Given the description of an element on the screen output the (x, y) to click on. 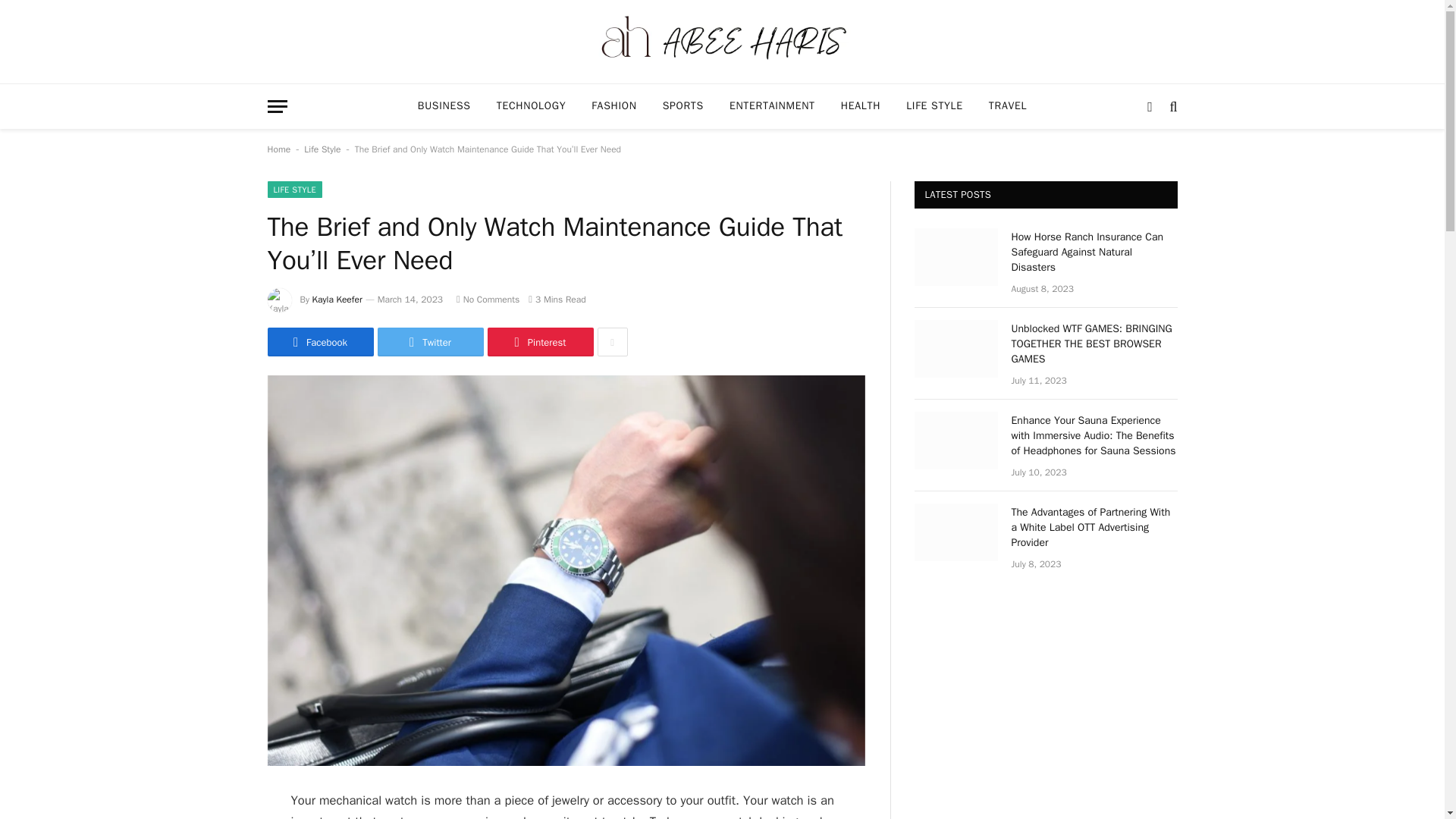
Twitter (430, 341)
Kayla Keefer (337, 299)
Share on Pinterest (539, 341)
LIFE STYLE (934, 106)
Share on Facebook (319, 341)
Home (277, 149)
Facebook (319, 341)
Switch to Dark Design - easier on eyes. (1149, 106)
Life Style (322, 149)
No Comments (488, 299)
